Given the description of an element on the screen output the (x, y) to click on. 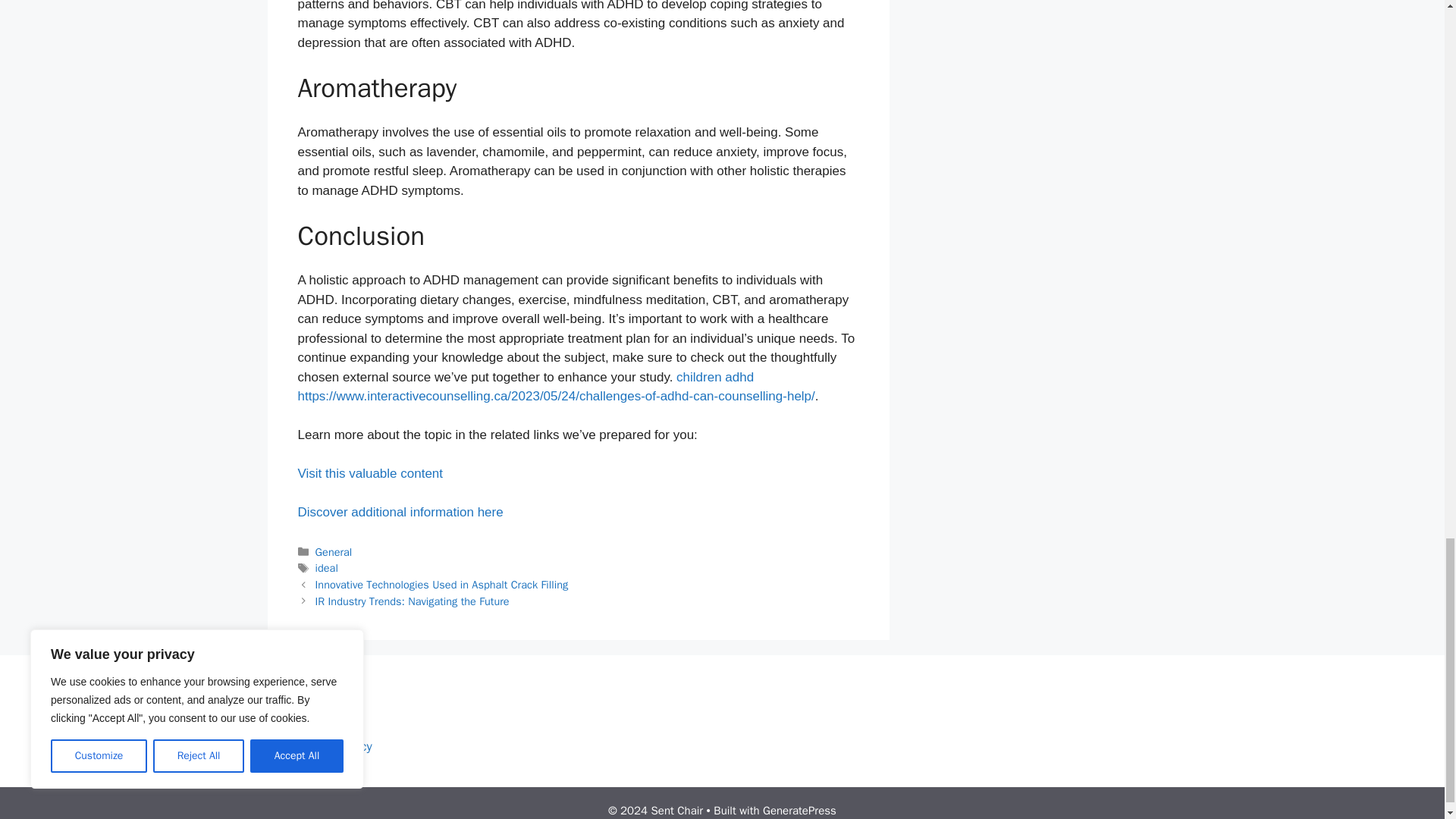
General (333, 551)
Visit this valuable content (369, 473)
ideal (326, 567)
IR Industry Trends: Navigating the Future (412, 601)
Innovative Technologies Used in Asphalt Crack Filling (442, 584)
Discover additional information here (399, 512)
